Given the description of an element on the screen output the (x, y) to click on. 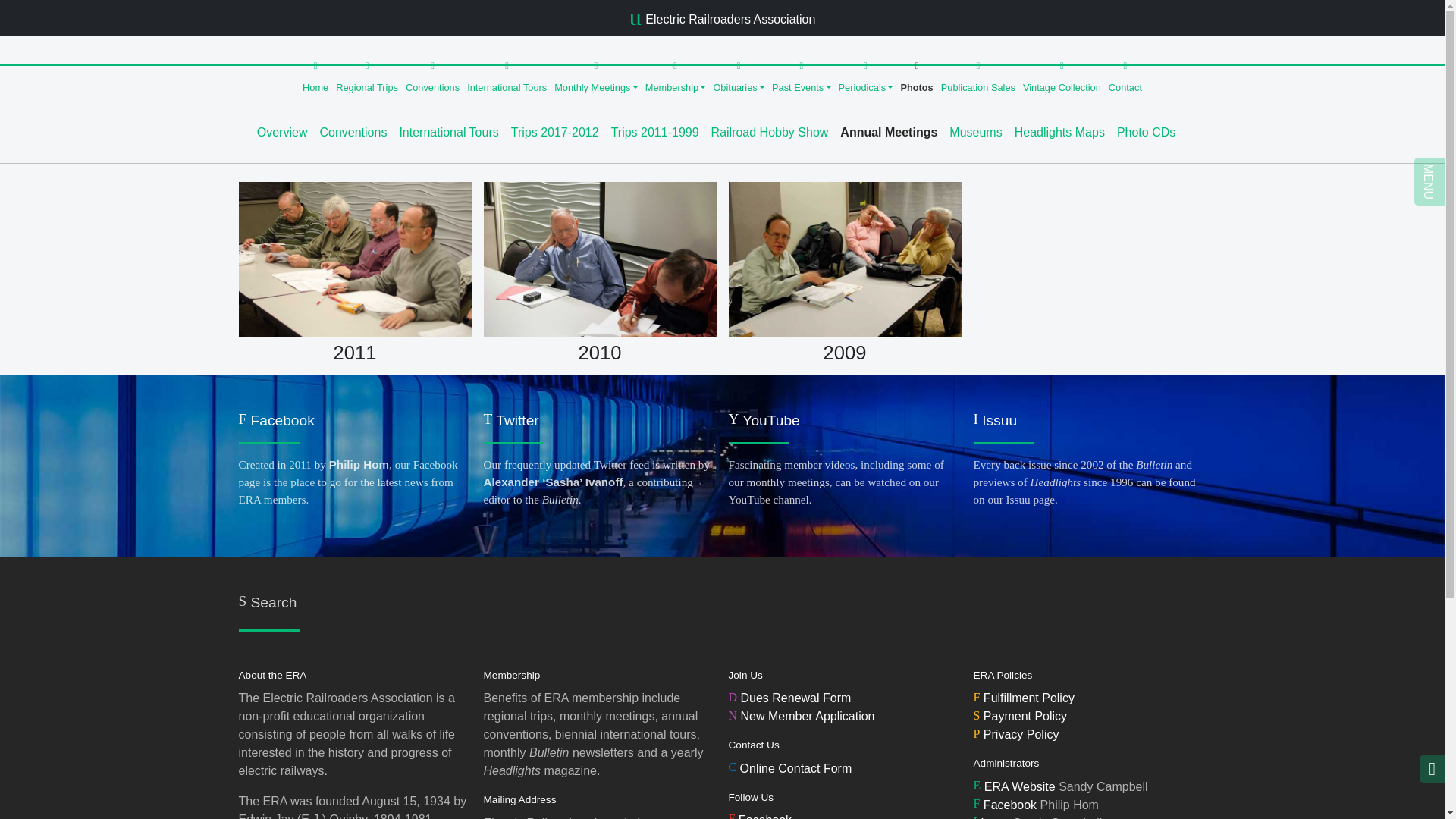
Regional Trips (366, 76)
Monthly Meetings (596, 76)
International Tours (506, 76)
uElectric Railroaders Association (721, 20)
Obituaries (738, 76)
Membership (676, 76)
Conventions (432, 76)
Facebook (760, 816)
